Given the description of an element on the screen output the (x, y) to click on. 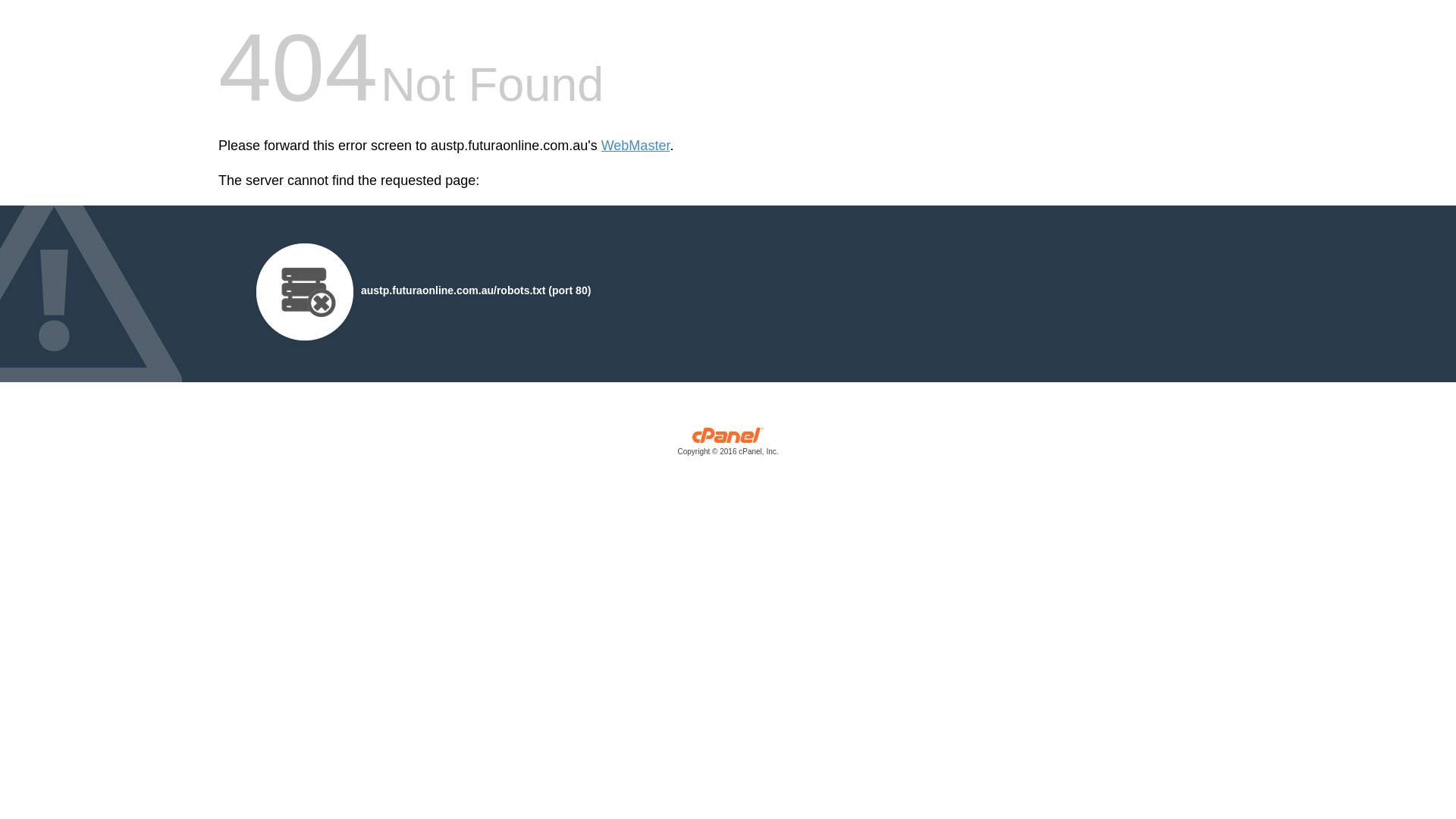
WebMaster Element type: text (635, 145)
